Given the description of an element on the screen output the (x, y) to click on. 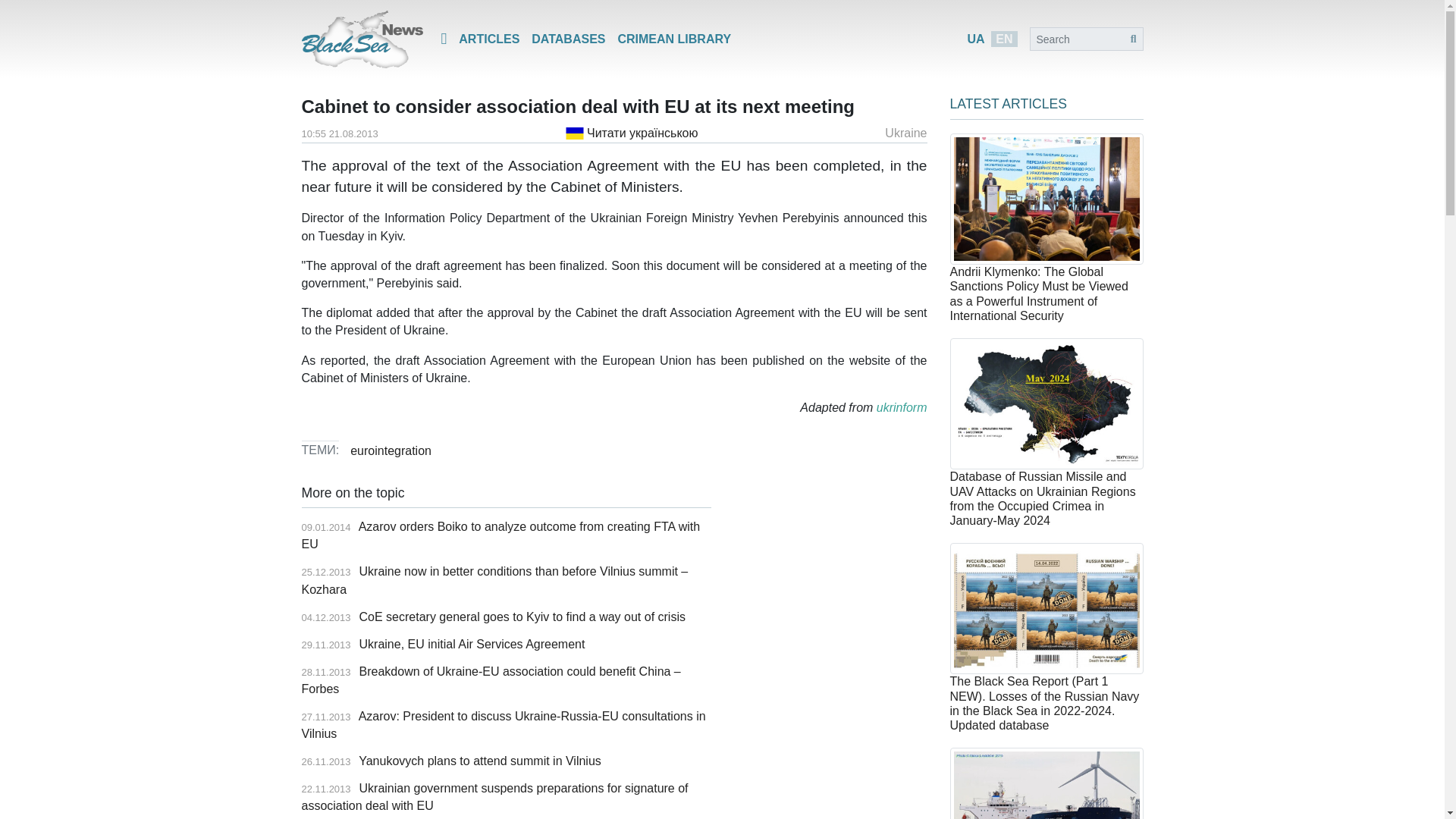
DATABASES (568, 38)
Ukraine (905, 132)
Yanukovych plans to attend summit in Vilnius (479, 760)
LATEST ARTICLES (1008, 103)
eurointegration (390, 450)
Ukraine, EU initial Air Services Agreement (472, 644)
ukrinform (901, 407)
CRIMEAN LIBRARY (673, 38)
ARTICLES (488, 38)
